Given the description of an element on the screen output the (x, y) to click on. 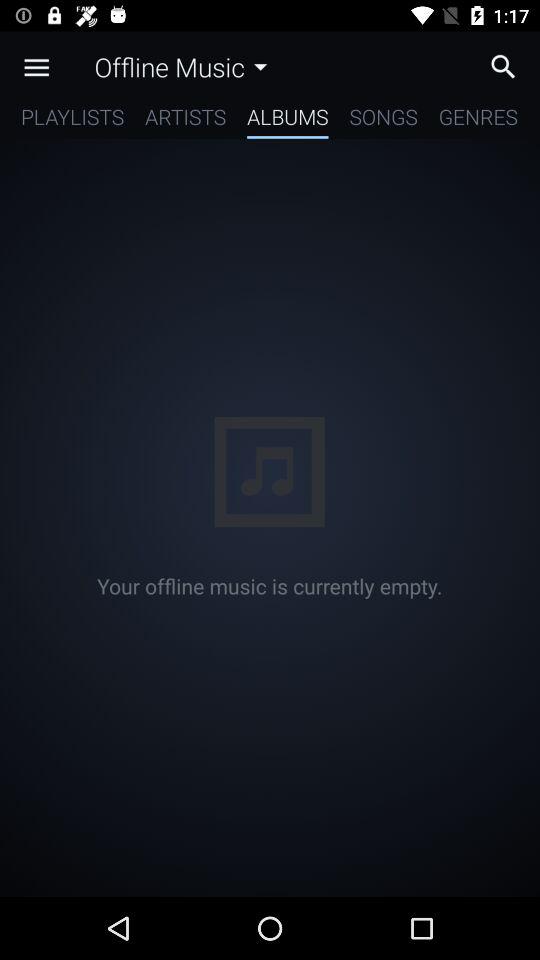
search (508, 66)
